Given the description of an element on the screen output the (x, y) to click on. 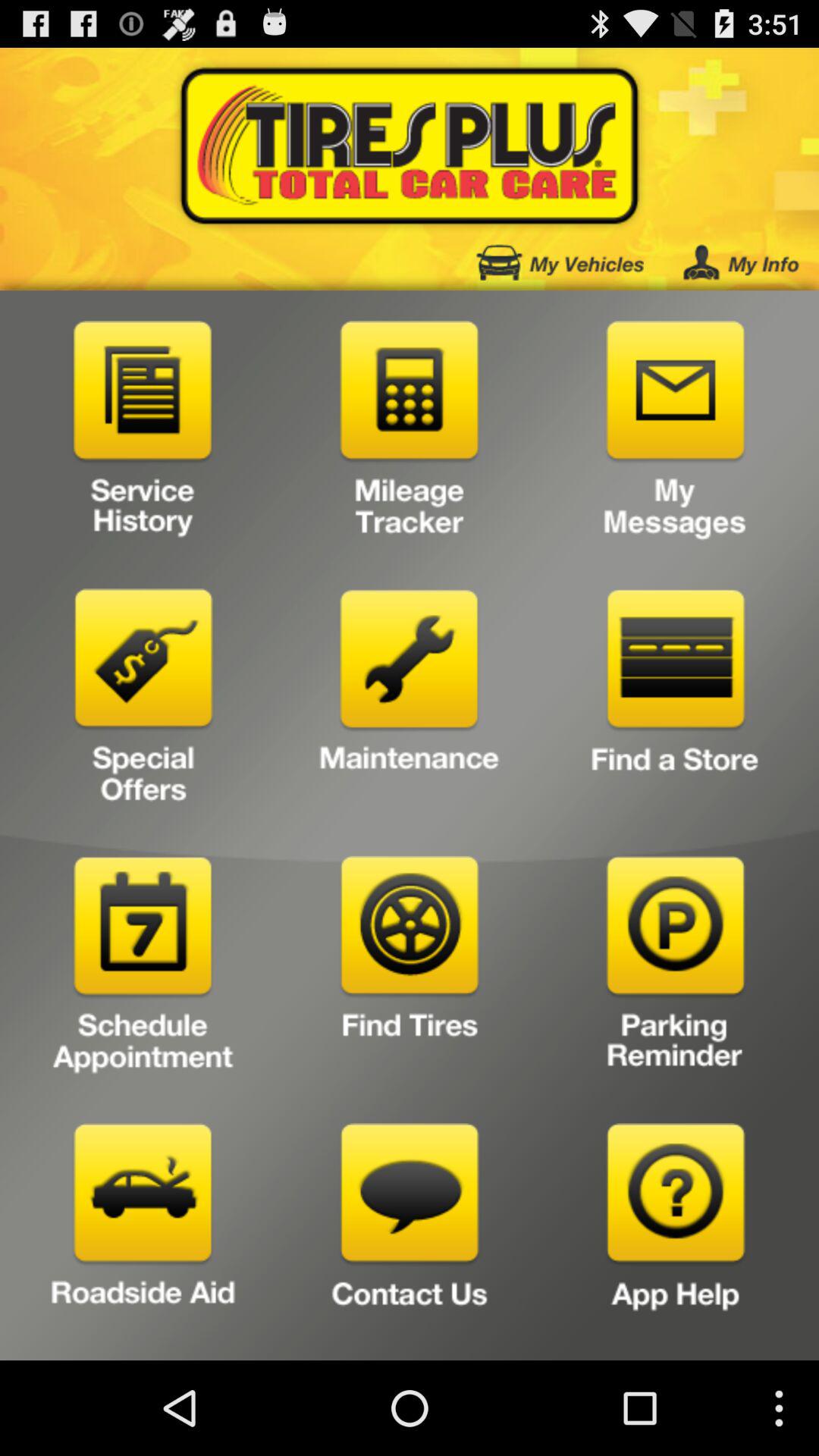
toggle to schedule appointment option (142, 968)
